Given the description of an element on the screen output the (x, y) to click on. 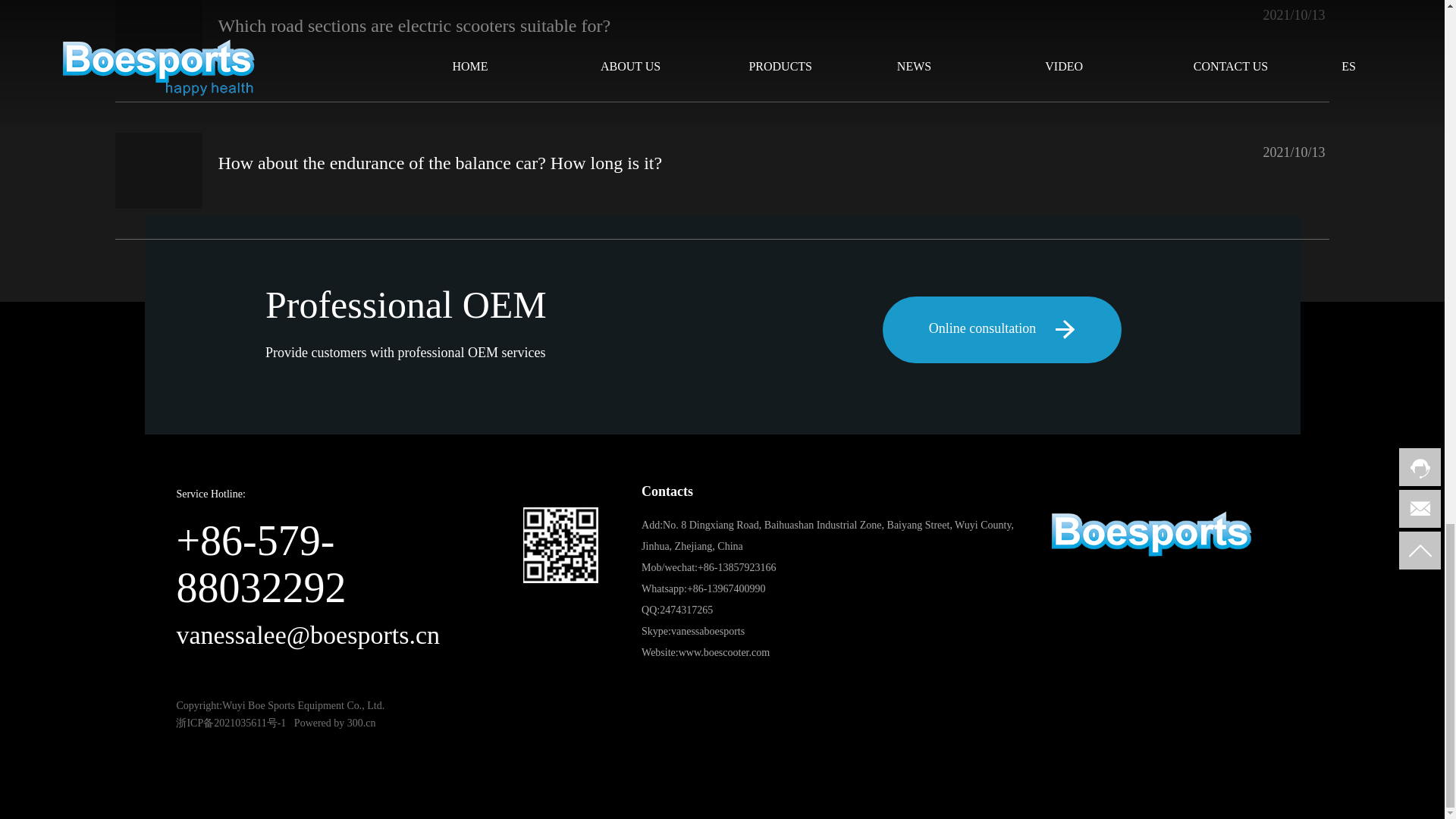
How (158, 170)
Which (158, 35)
